Given the description of an element on the screen output the (x, y) to click on. 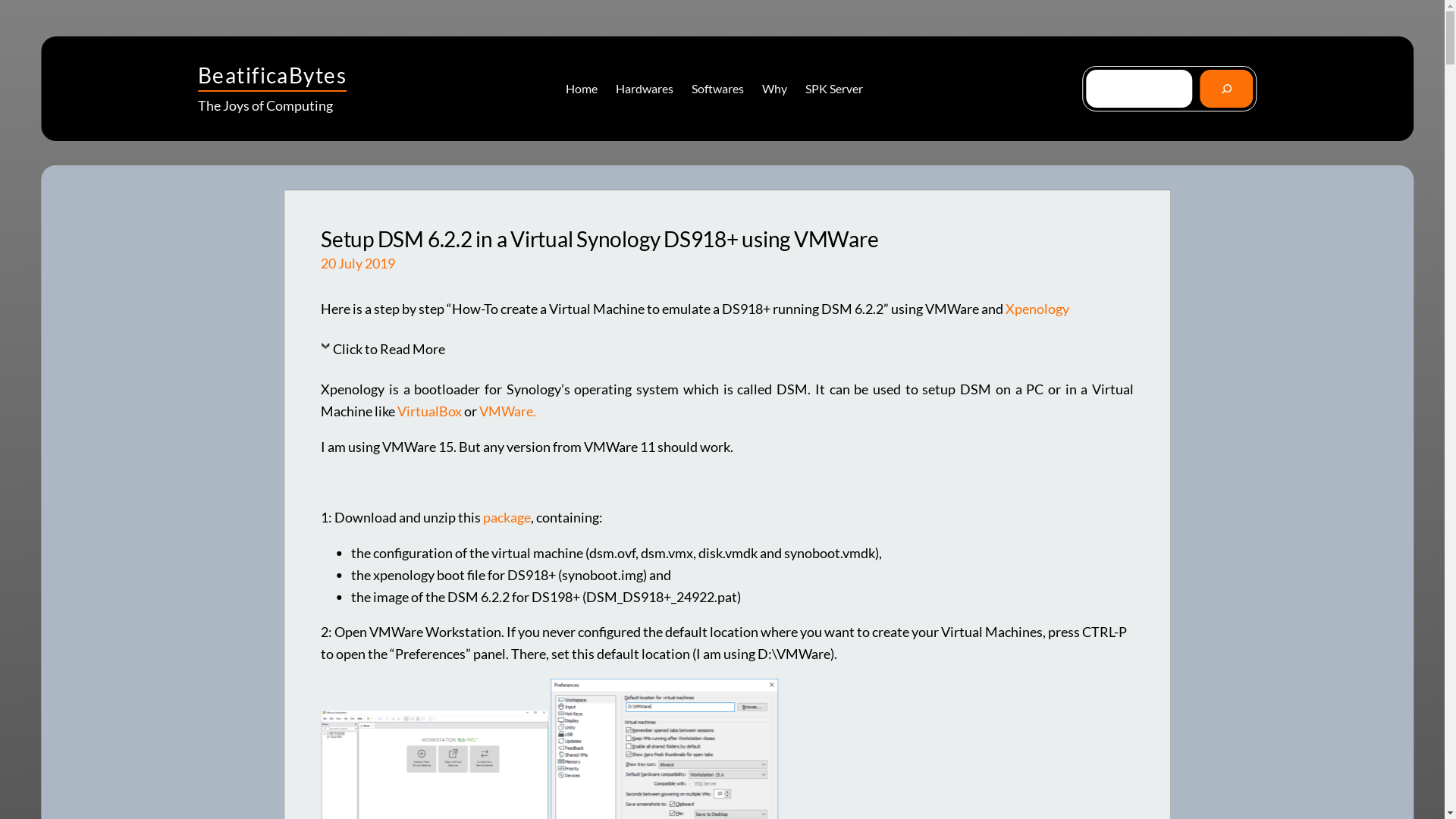
Hardwares Element type: text (644, 88)
Why Element type: text (774, 88)
SPK Server Element type: text (833, 88)
Softwares Element type: text (717, 88)
BeatificaBytes Element type: text (271, 74)
package Element type: text (506, 516)
Home Element type: text (581, 88)
VMWare. Element type: text (507, 410)
VirtualBox Element type: text (430, 410)
Xpenology Element type: text (1037, 308)
